Given the description of an element on the screen output the (x, y) to click on. 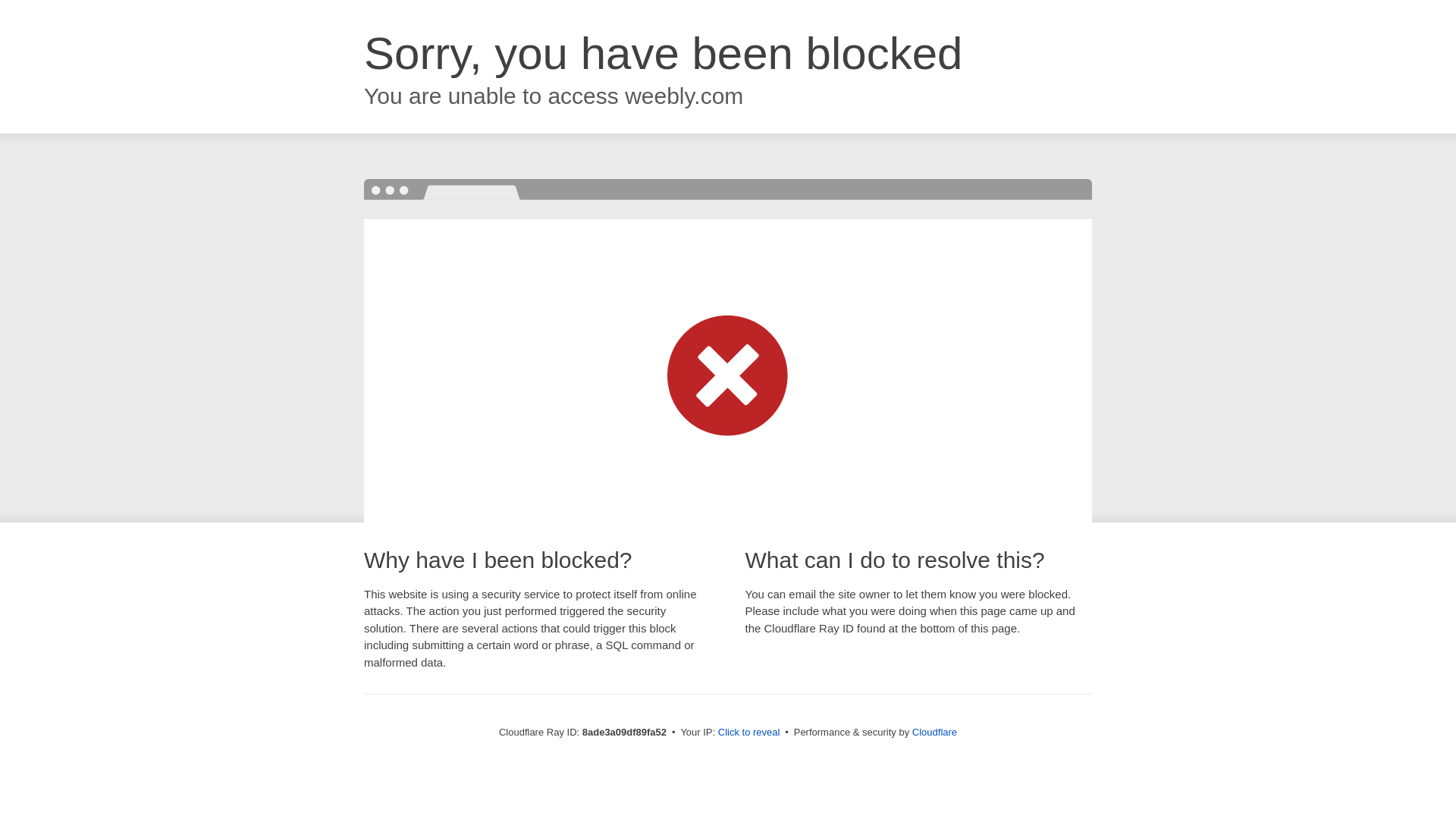
Cloudflare (934, 731)
Click to reveal (748, 732)
